Given the description of an element on the screen output the (x, y) to click on. 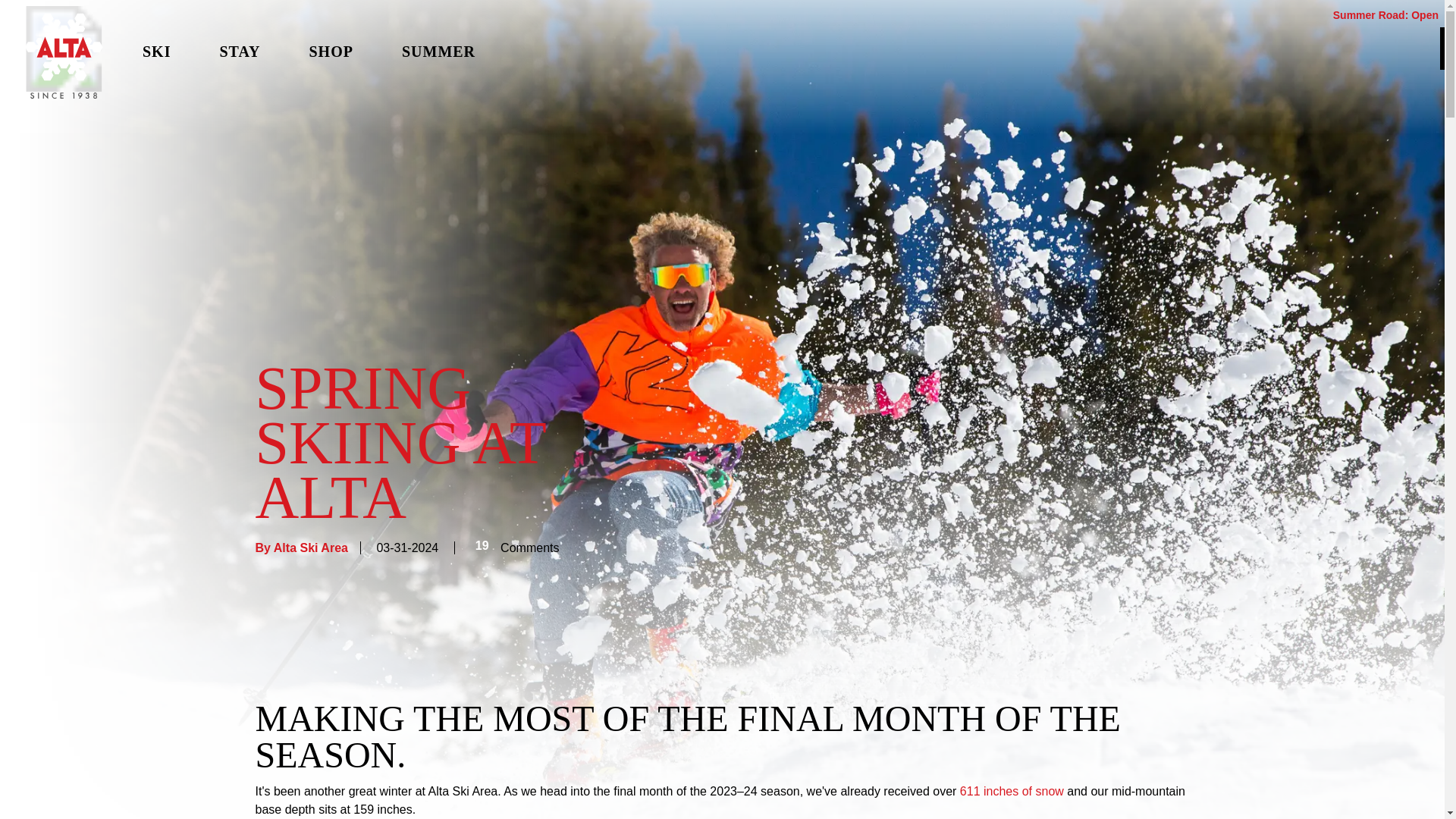
STAY (239, 51)
SHOP (331, 51)
SKI (156, 51)
